Given the description of an element on the screen output the (x, y) to click on. 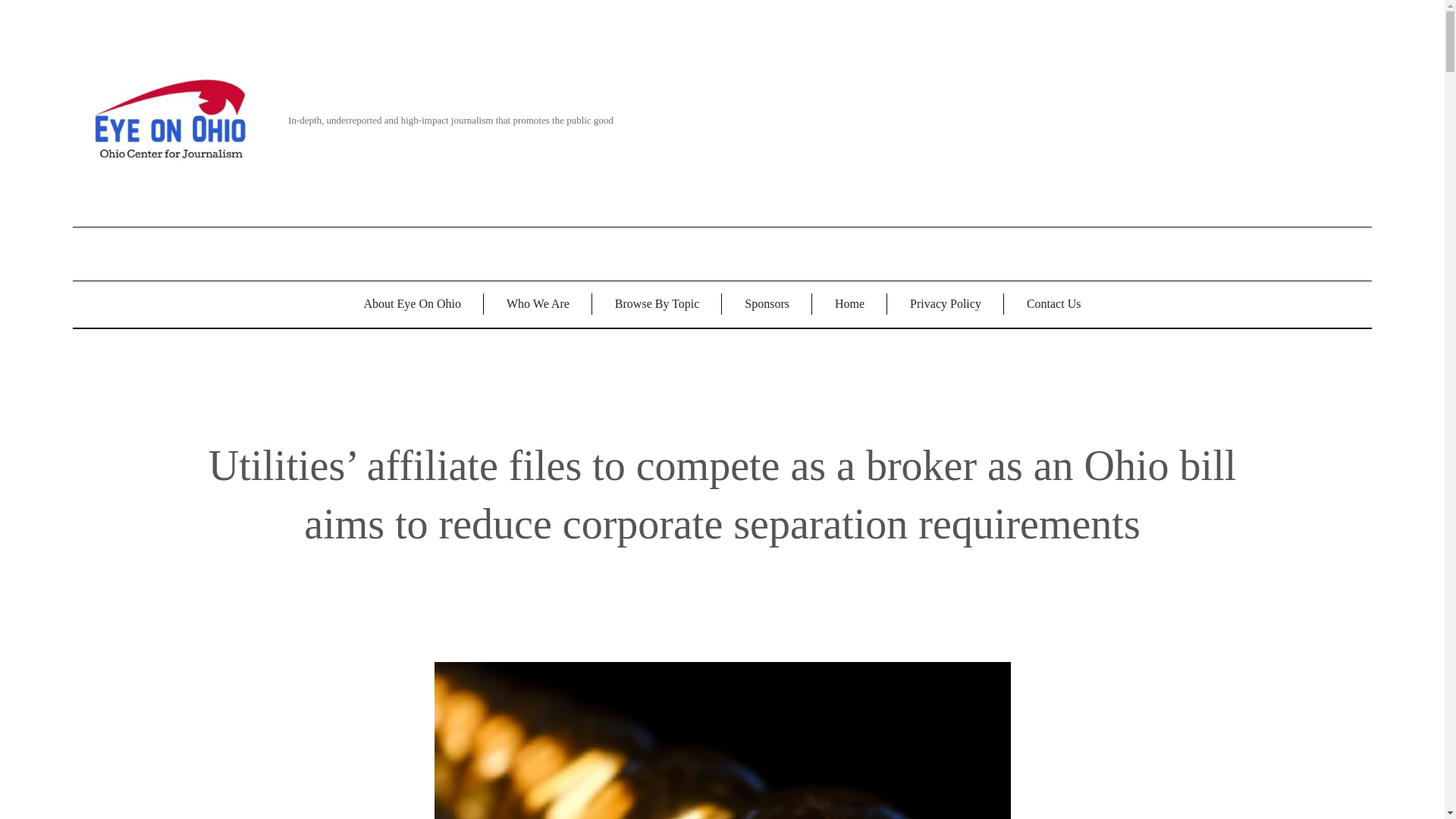
Who We Are (538, 304)
Home (849, 304)
About Eye On Ohio (412, 304)
Browse By Topic (657, 304)
Sponsors (766, 304)
Privacy Policy (945, 304)
Contact Us (1053, 304)
